Given the description of an element on the screen output the (x, y) to click on. 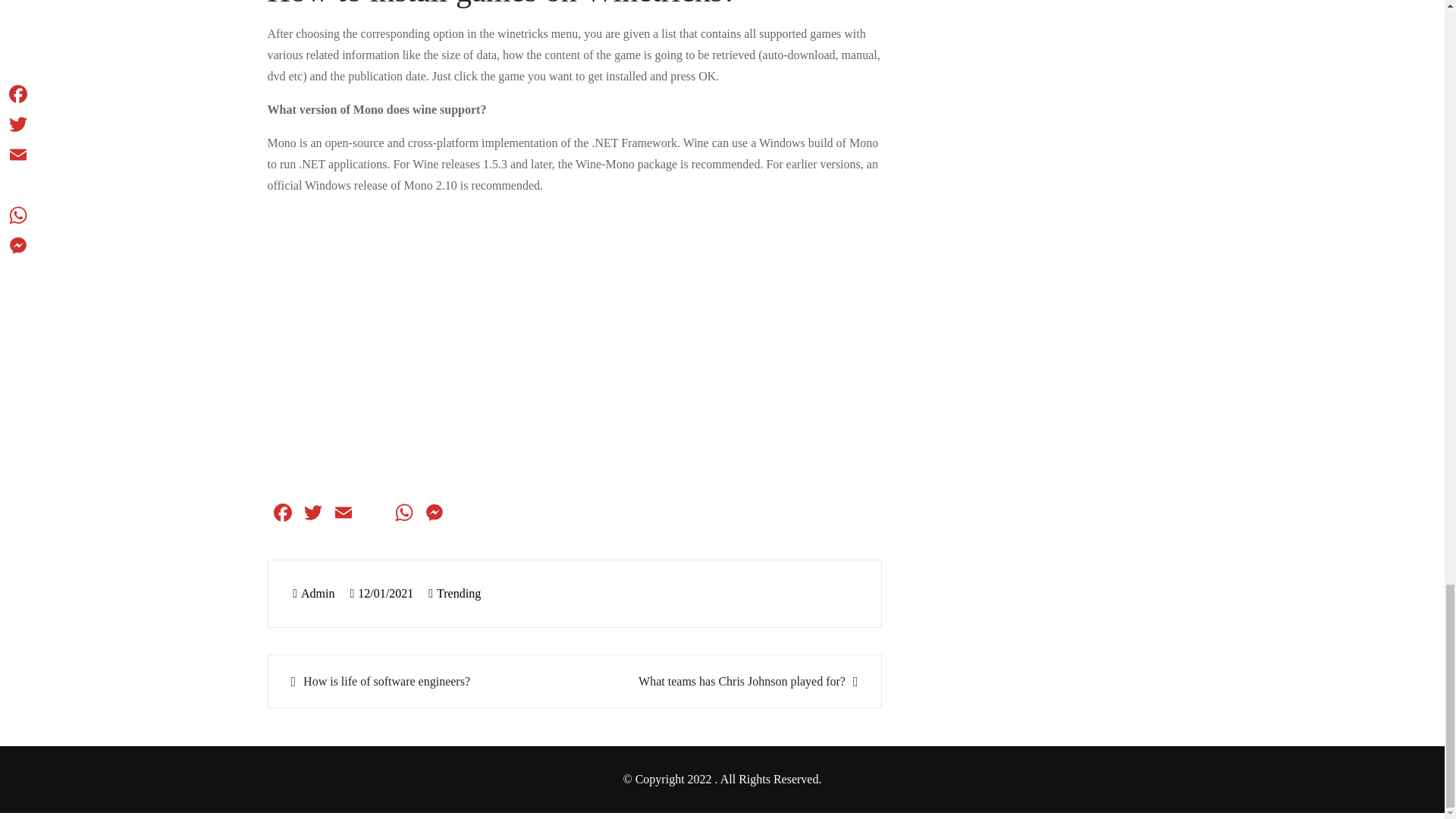
How is life of software engineers? (423, 681)
What teams has Chris Johnson played for? (724, 681)
Messenger (433, 514)
Telegram (463, 514)
Email (342, 514)
Admin (313, 593)
Reddit (373, 514)
Facebook (281, 514)
Twitter (312, 514)
